Given the description of an element on the screen output the (x, y) to click on. 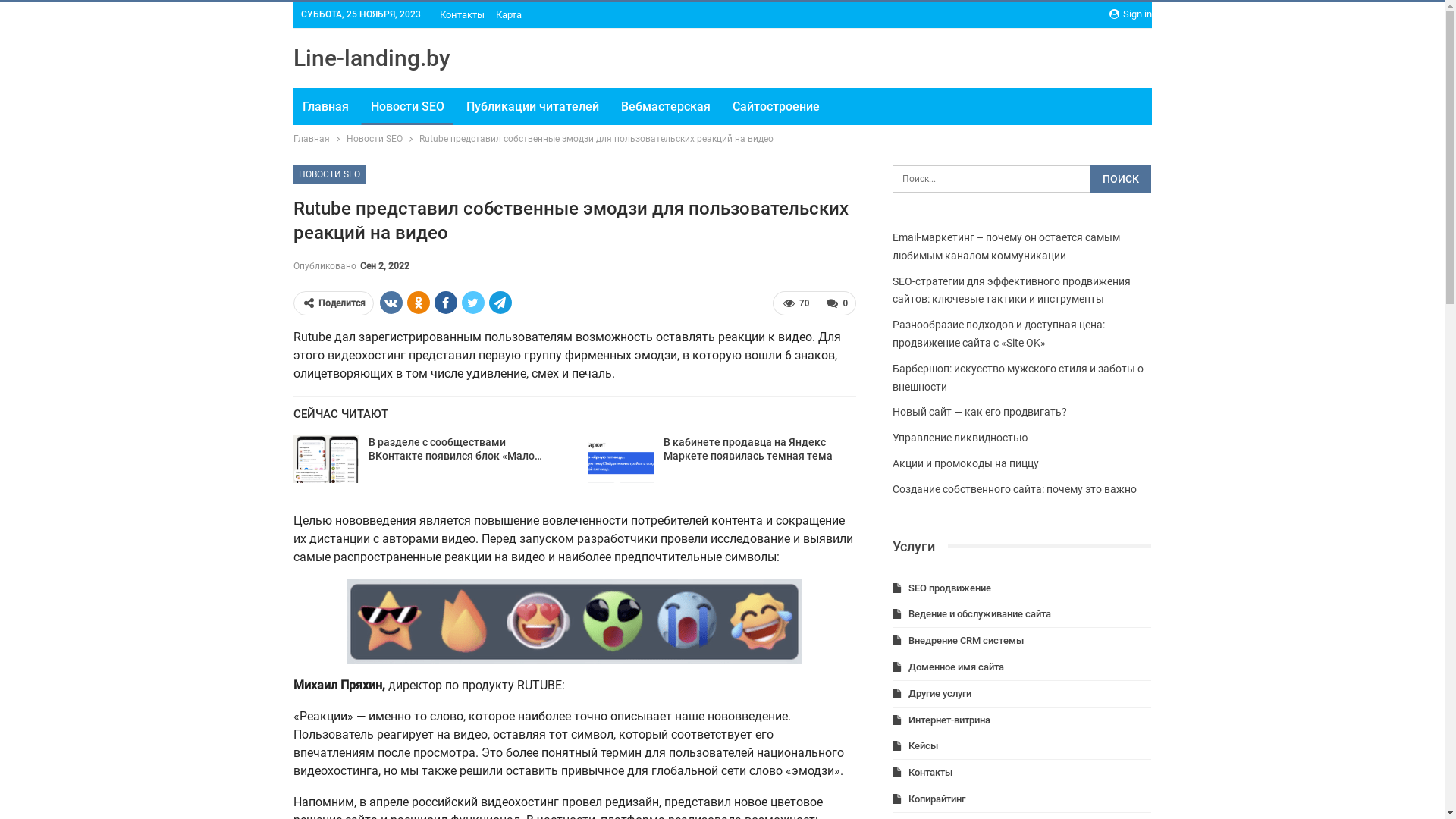
0 Element type: text (836, 303)
Line-landing.by Element type: text (370, 57)
Sign in Element type: text (1129, 14)
